Given the description of an element on the screen output the (x, y) to click on. 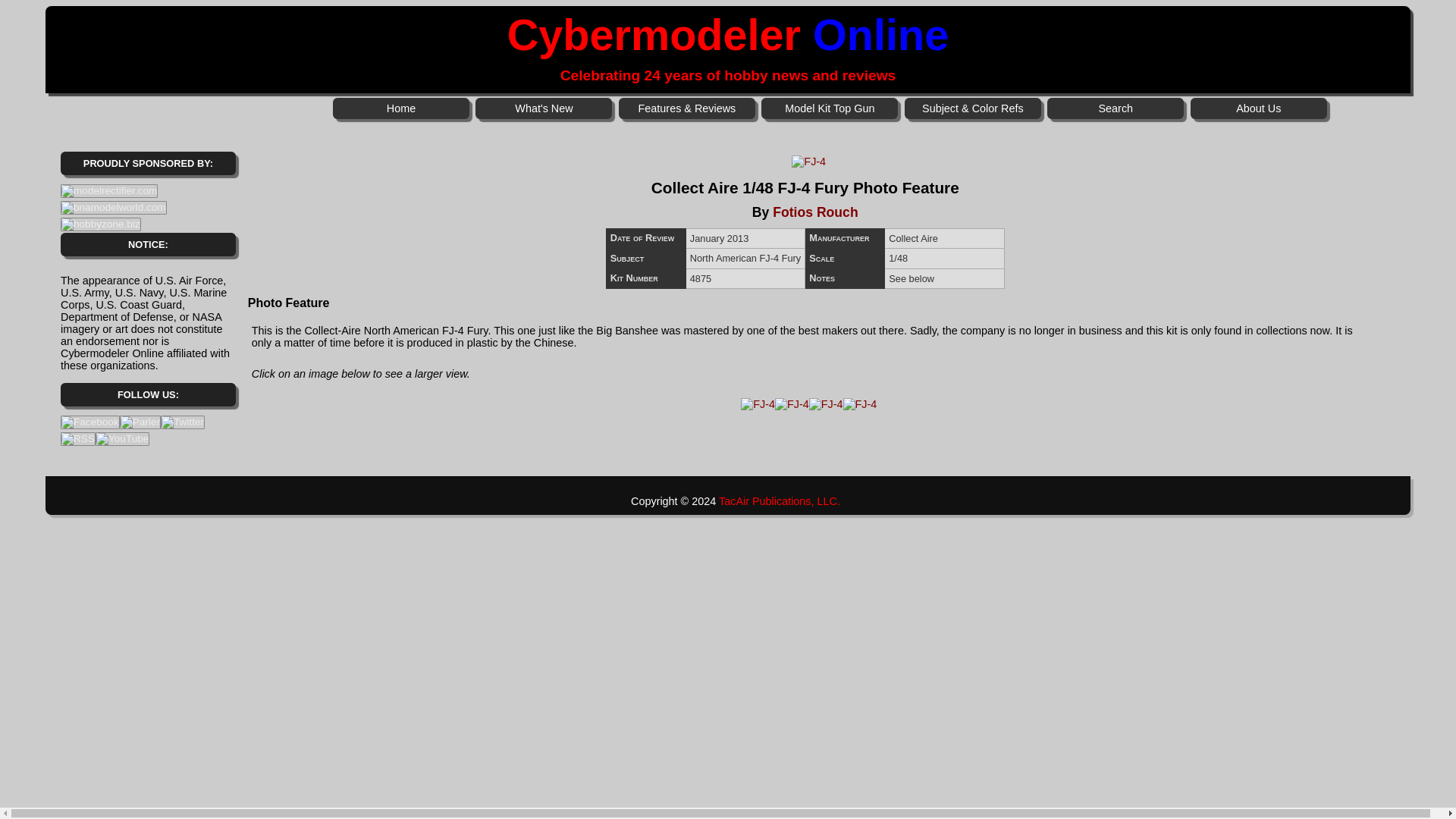
Model Kit Top Gun (829, 107)
Fotios Rouch (815, 212)
Home (400, 107)
Search (1114, 107)
What's New (543, 107)
TacAir Publications, LLC. (779, 500)
About Us (1258, 107)
